Given the description of an element on the screen output the (x, y) to click on. 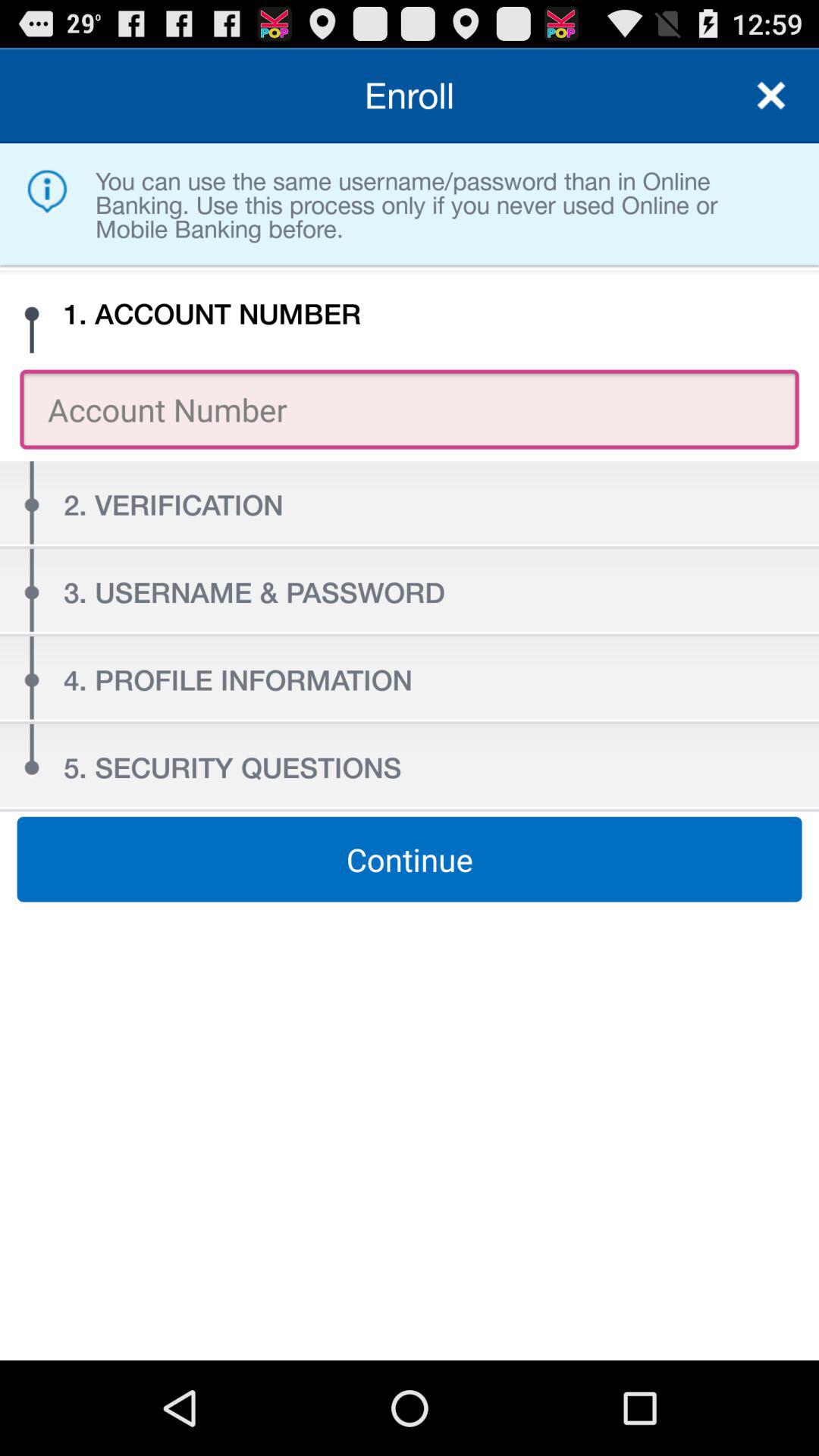
flip to the continue button (409, 859)
